Given the description of an element on the screen output the (x, y) to click on. 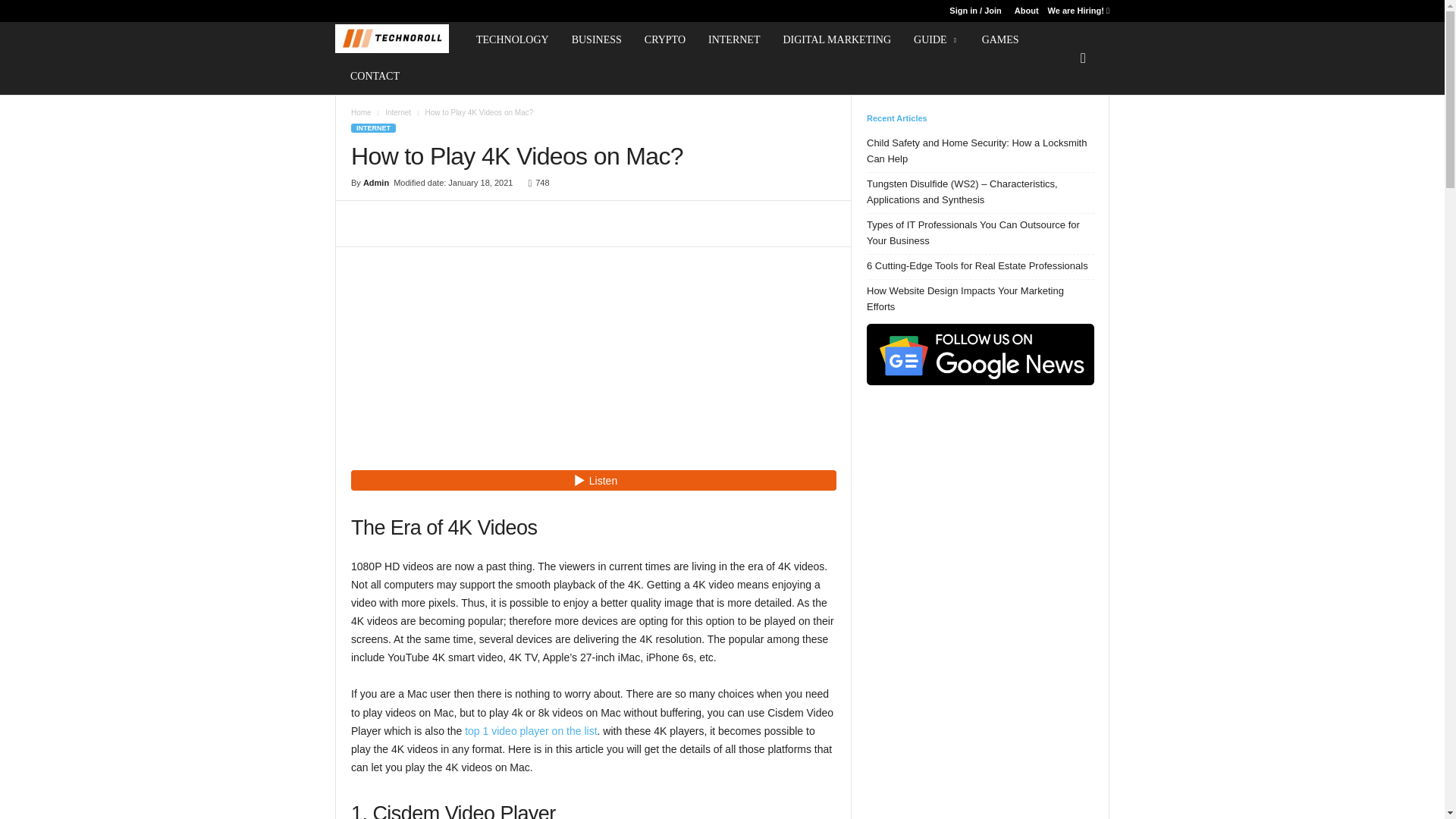
Technoroll (399, 39)
INTERNET (734, 40)
BUSINESS (596, 40)
technoroll (391, 38)
CONTACT (374, 76)
About (1026, 10)
Text To Audio: Tap to listen post. (592, 480)
CRYPTO (665, 40)
GAMES (1000, 40)
View all posts in Internet (397, 112)
